Given the description of an element on the screen output the (x, y) to click on. 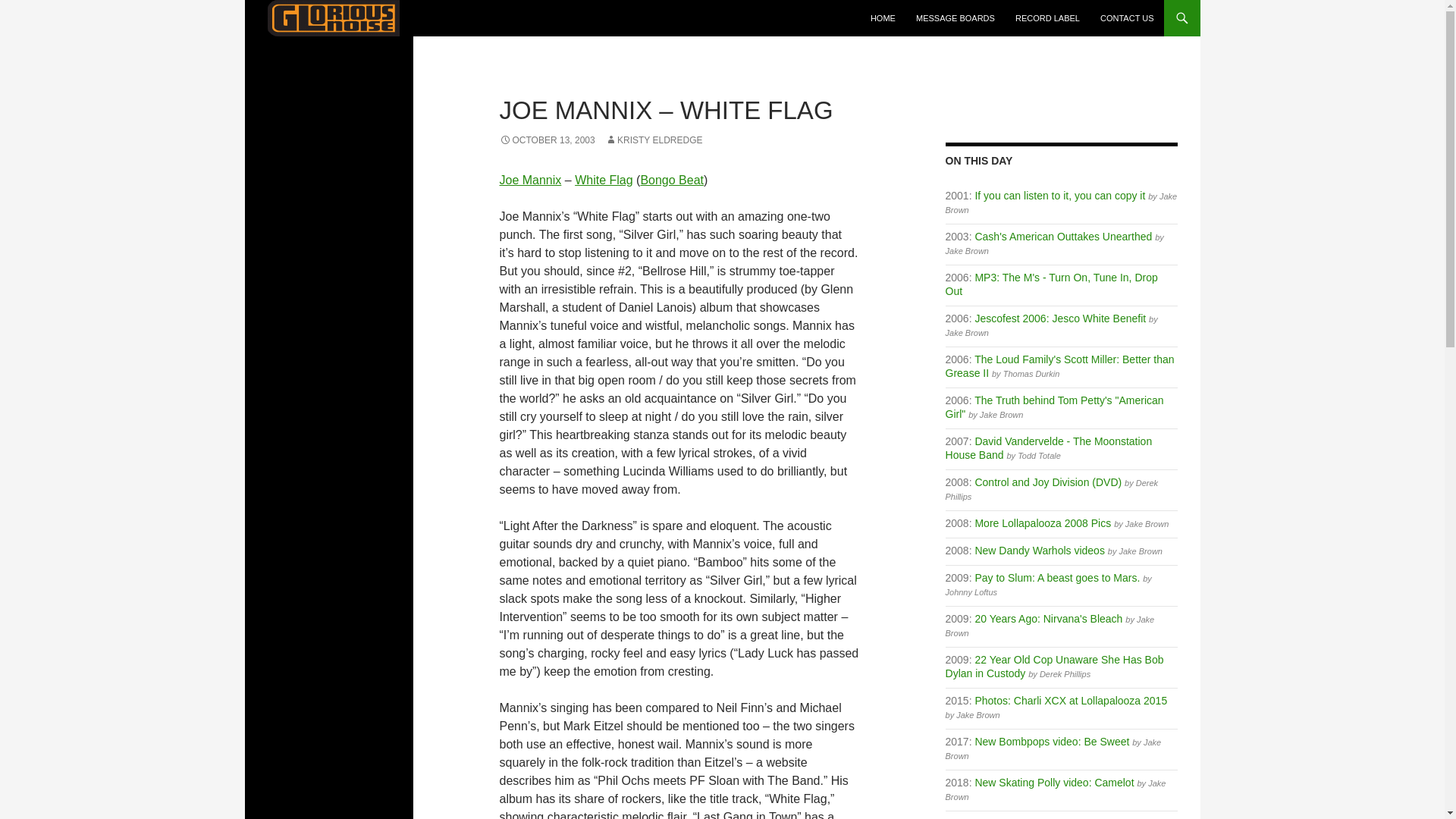
Jake Brown (966, 332)
CONTACT US (1126, 18)
Thomas Durkin (1031, 373)
Jake Brown (1001, 414)
Joe Mannix (529, 179)
OCTOBER 13, 2003 (546, 140)
KRISTY ELDREDGE (653, 140)
Jake Brown (966, 250)
David Vandervelde - The Moonstation House Band (1048, 447)
MP3: The M's - Turn On, Tune In, Drop Out (1050, 284)
